Given the description of an element on the screen output the (x, y) to click on. 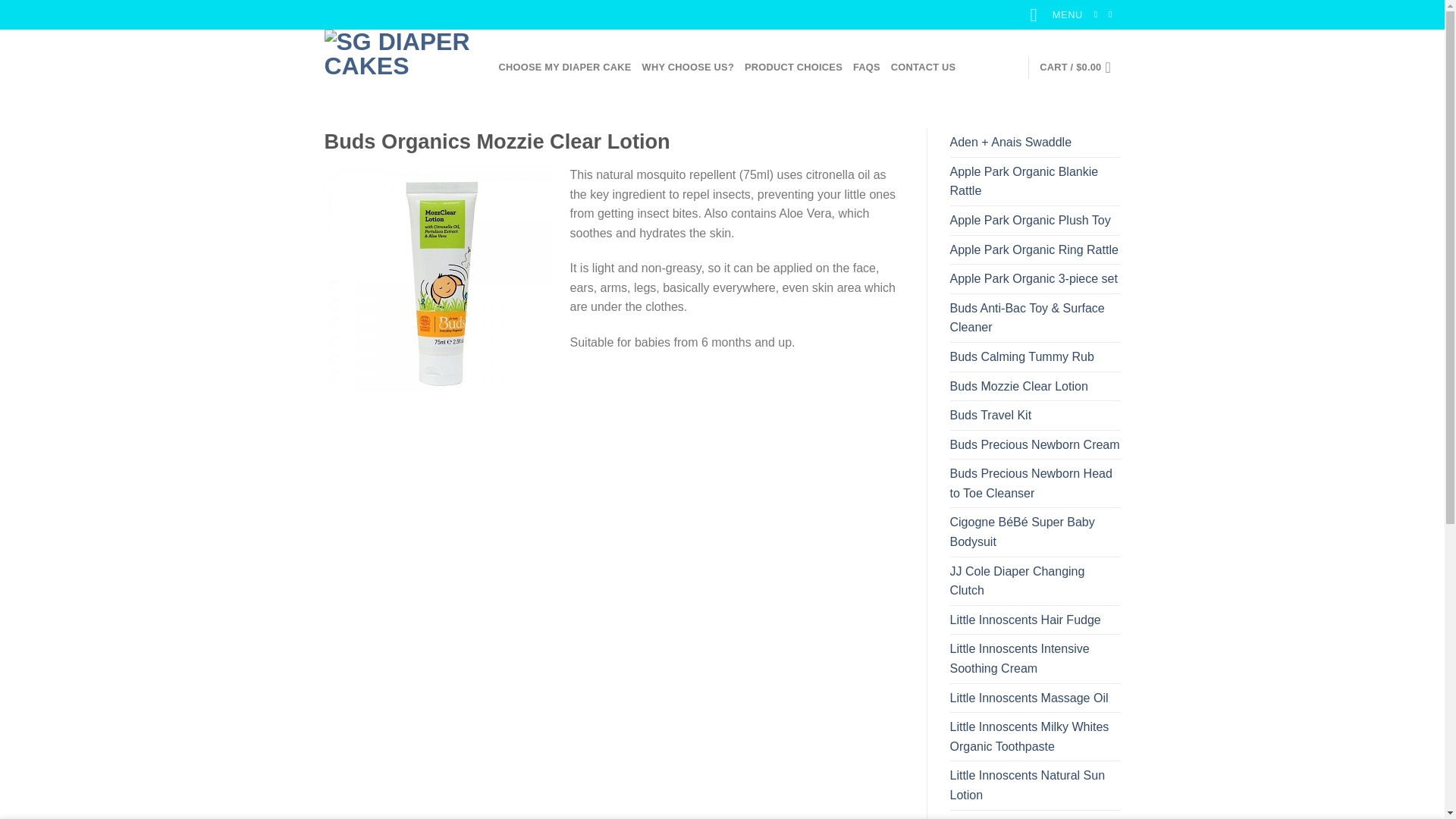
Apple Park Organic Blankie Rattle (1034, 181)
JJ Cole Diaper Changing Clutch (1034, 581)
Apple Park Organic Ring Rattle (1033, 249)
Apple Park Organic Plush Toy (1029, 220)
Little Innoscents Intensive Soothing Cream (1034, 658)
Apple Park Organic 3-piece set (1032, 278)
WHY CHOOSE US? (687, 67)
SG Diaper Cakes - So Good Diaper Cakes (400, 67)
Little Innoscents Organic Paw Paw Balm (1034, 814)
Buds Precious Newborn Cream (1034, 444)
Buds Travel Kit (989, 415)
Buds Calming Tummy Rub (1021, 357)
Little Innoscents Natural Sun Lotion (1034, 785)
Buds Mozzie Clear Lotion (1018, 386)
Cart (1079, 67)
